Given the description of an element on the screen output the (x, y) to click on. 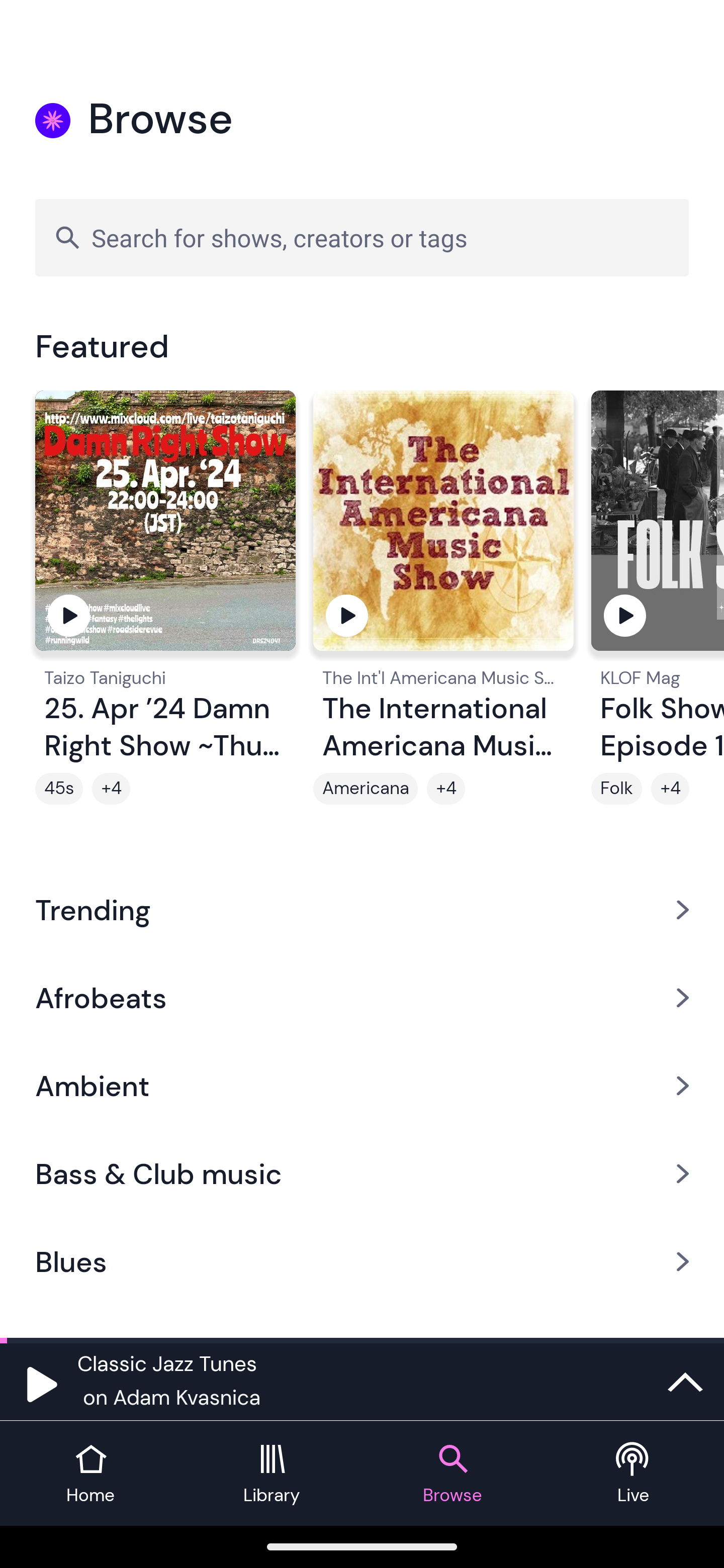
Search for shows, creators or tags (361, 237)
45s (59, 788)
Americana (365, 788)
Folk (616, 788)
Trending (361, 909)
Afrobeats (361, 997)
Ambient (361, 1085)
Bass & Club music (361, 1174)
Blues (361, 1262)
Home tab Home (90, 1473)
Library tab Library (271, 1473)
Browse tab Browse (452, 1473)
Live tab Live (633, 1473)
